Given the description of an element on the screen output the (x, y) to click on. 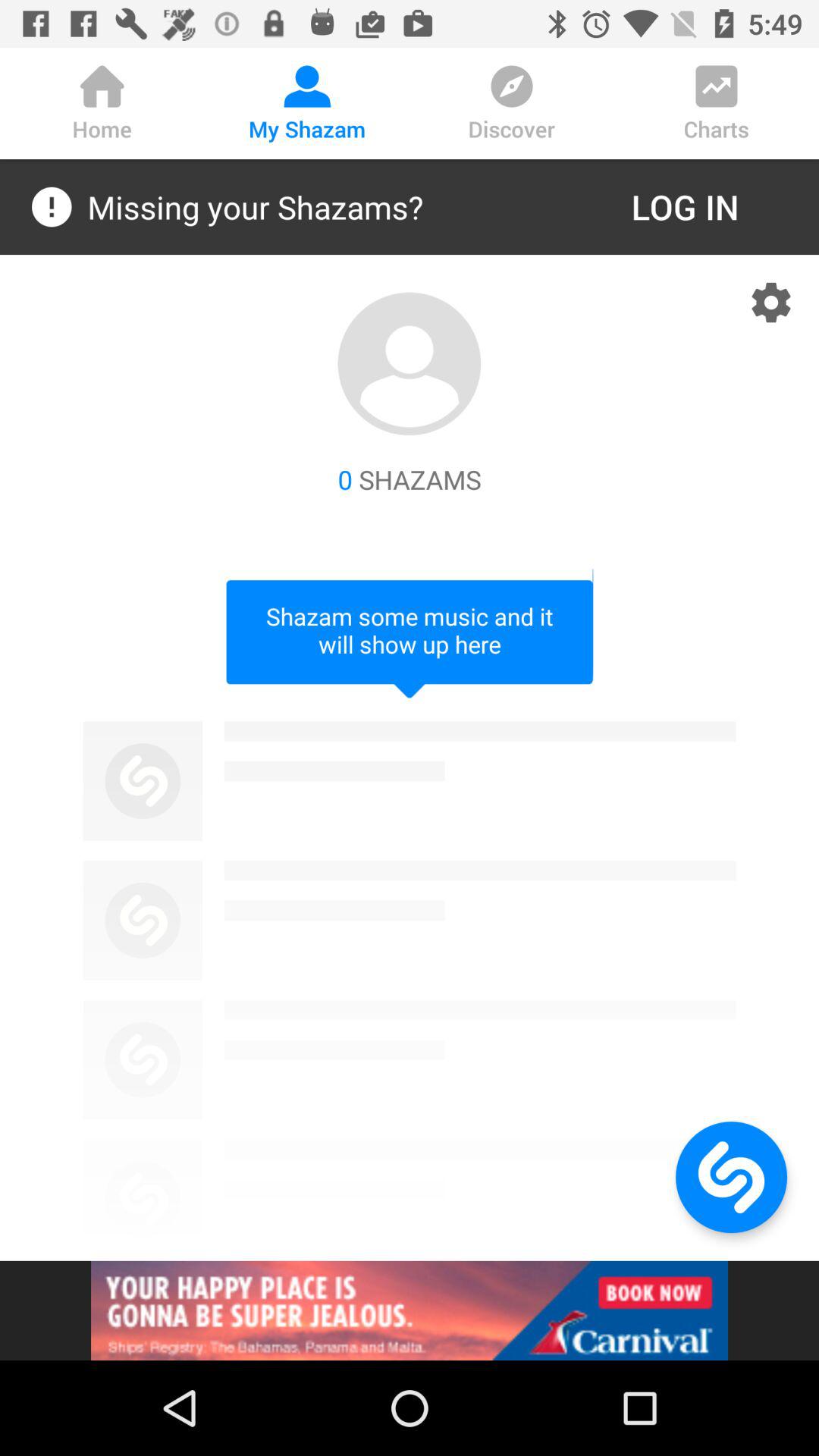
open settings (771, 302)
